Given the description of an element on the screen output the (x, y) to click on. 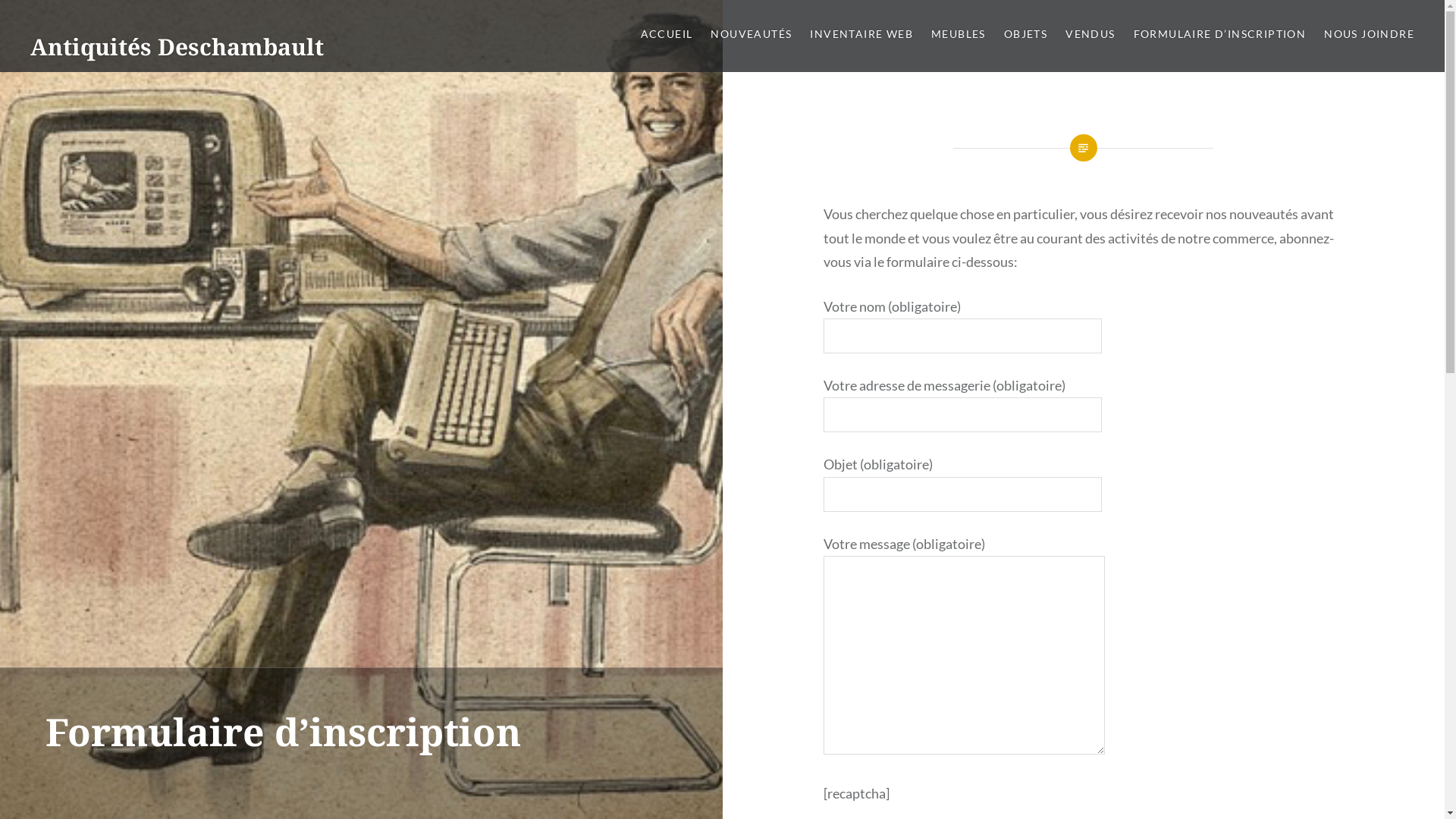
ACCUEIL Element type: text (666, 34)
NOUS JOINDRE Element type: text (1369, 34)
MEUBLES Element type: text (958, 34)
INVENTAIRE WEB Element type: text (861, 34)
OBJETS Element type: text (1025, 34)
VENDUS Element type: text (1089, 34)
Rechercher Element type: text (141, 19)
